Given the description of an element on the screen output the (x, y) to click on. 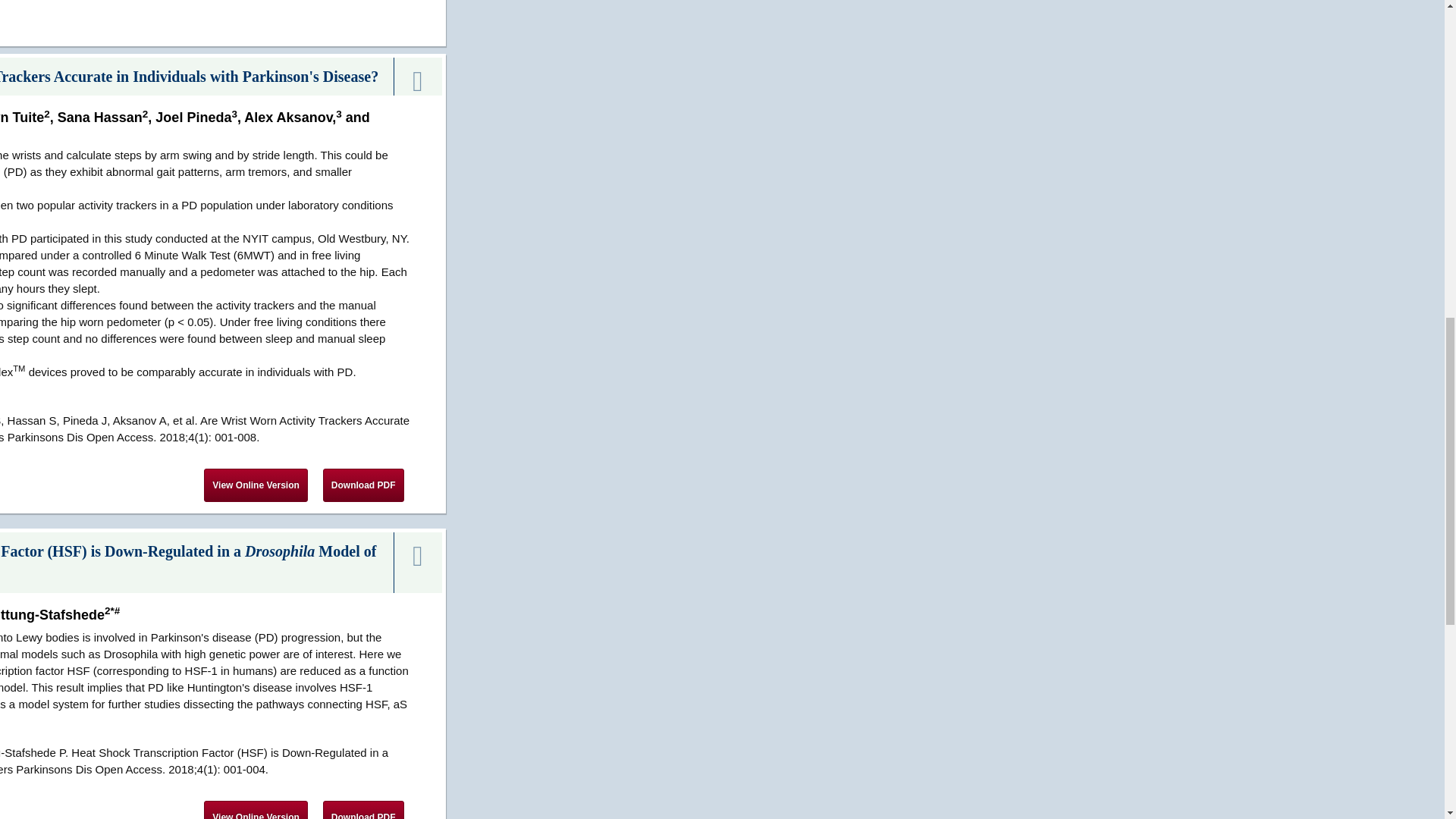
Download PDF (363, 485)
View Online Version (255, 485)
View Online Version (255, 485)
View Online Version (255, 809)
Download PDF (363, 809)
View Online Version (255, 809)
Download PDF (363, 809)
Download PDF (363, 485)
